Given the description of an element on the screen output the (x, y) to click on. 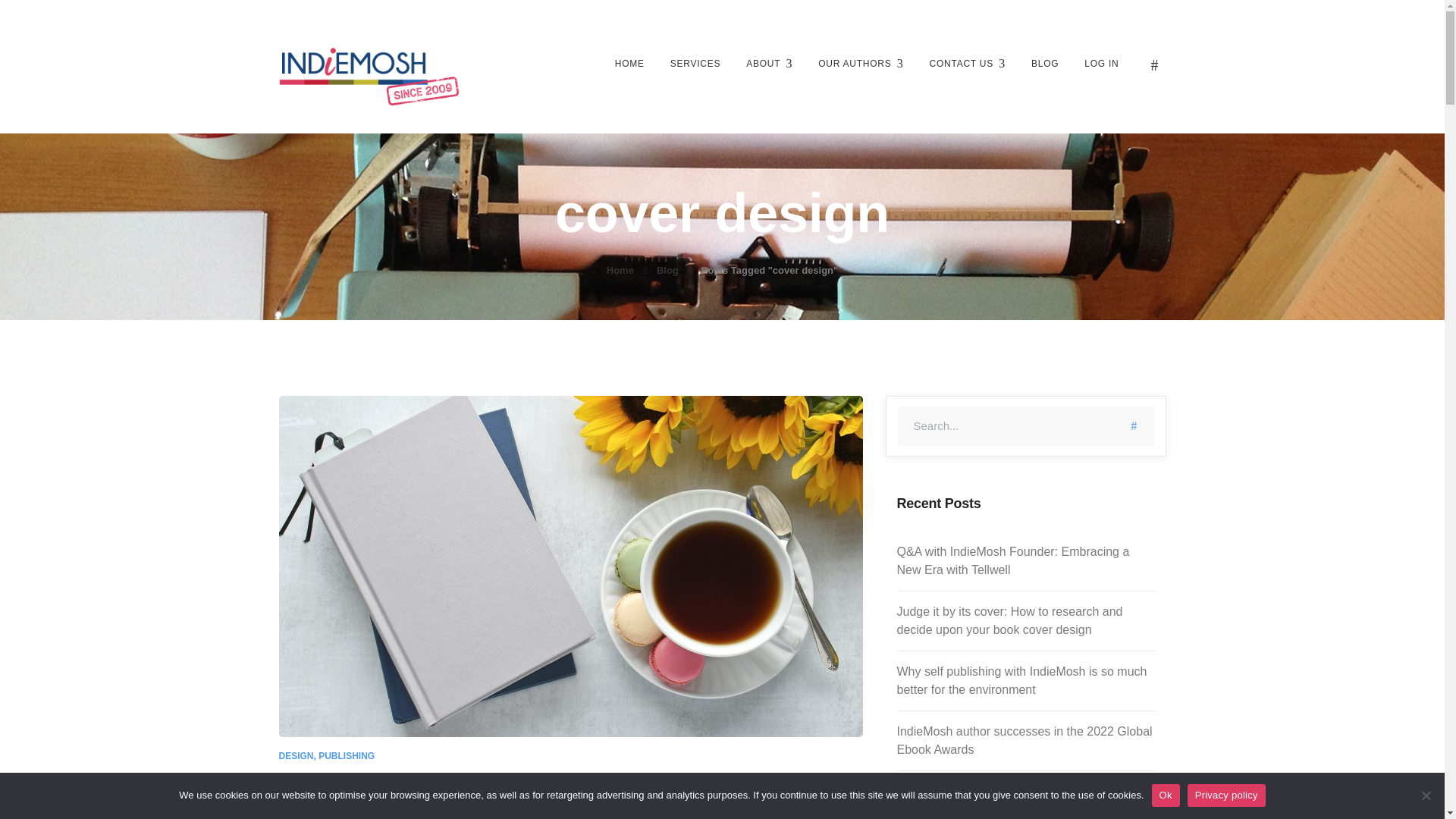
No (1425, 795)
IndieMosh (369, 74)
OUR AUTHORS (860, 63)
DESIGN (296, 756)
PUBLISHING (346, 756)
Search (1134, 425)
Blog (678, 270)
Search for: (1026, 425)
Home (631, 270)
